Given the description of an element on the screen output the (x, y) to click on. 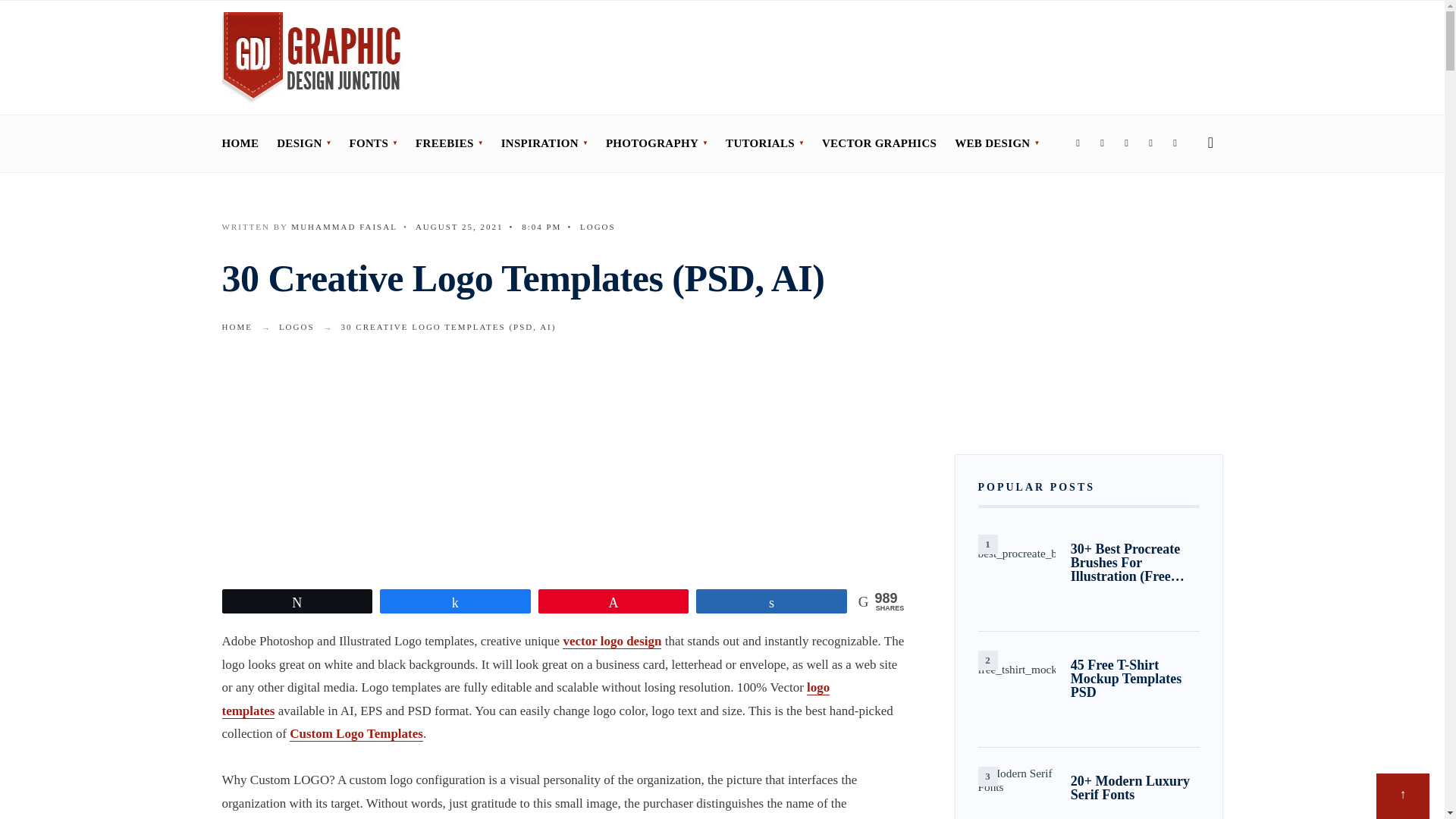
Twitter (1102, 143)
FONTS (373, 143)
VECTOR GRAPHICS (879, 143)
WEB DESIGN (997, 143)
DESIGN (303, 143)
Pinterest (1150, 143)
Dribbble (1175, 143)
HOME (240, 143)
INSPIRATION (544, 143)
Facebook (1077, 143)
